Given the description of an element on the screen output the (x, y) to click on. 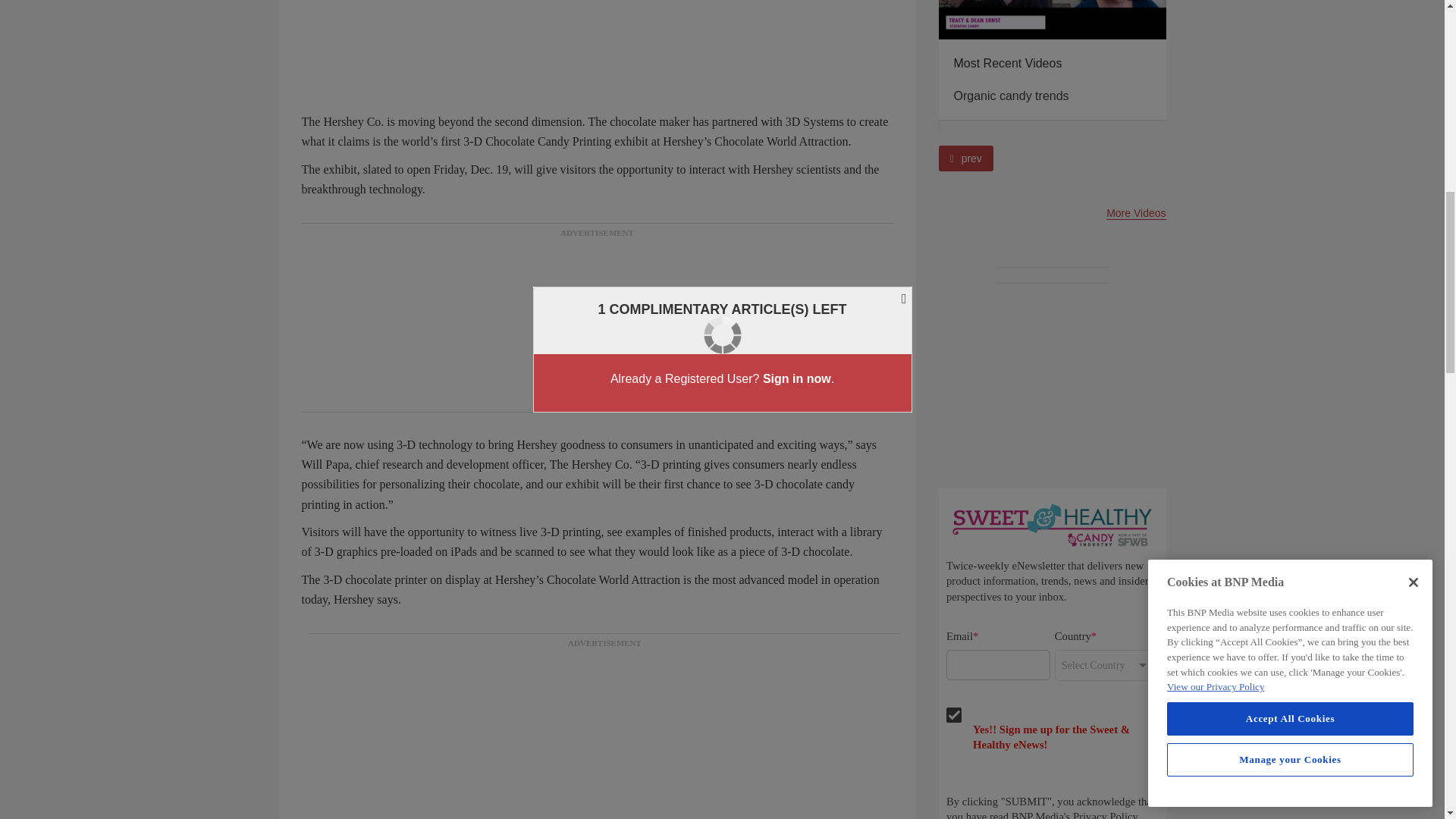
Organic candy trends (1052, 19)
